Given the description of an element on the screen output the (x, y) to click on. 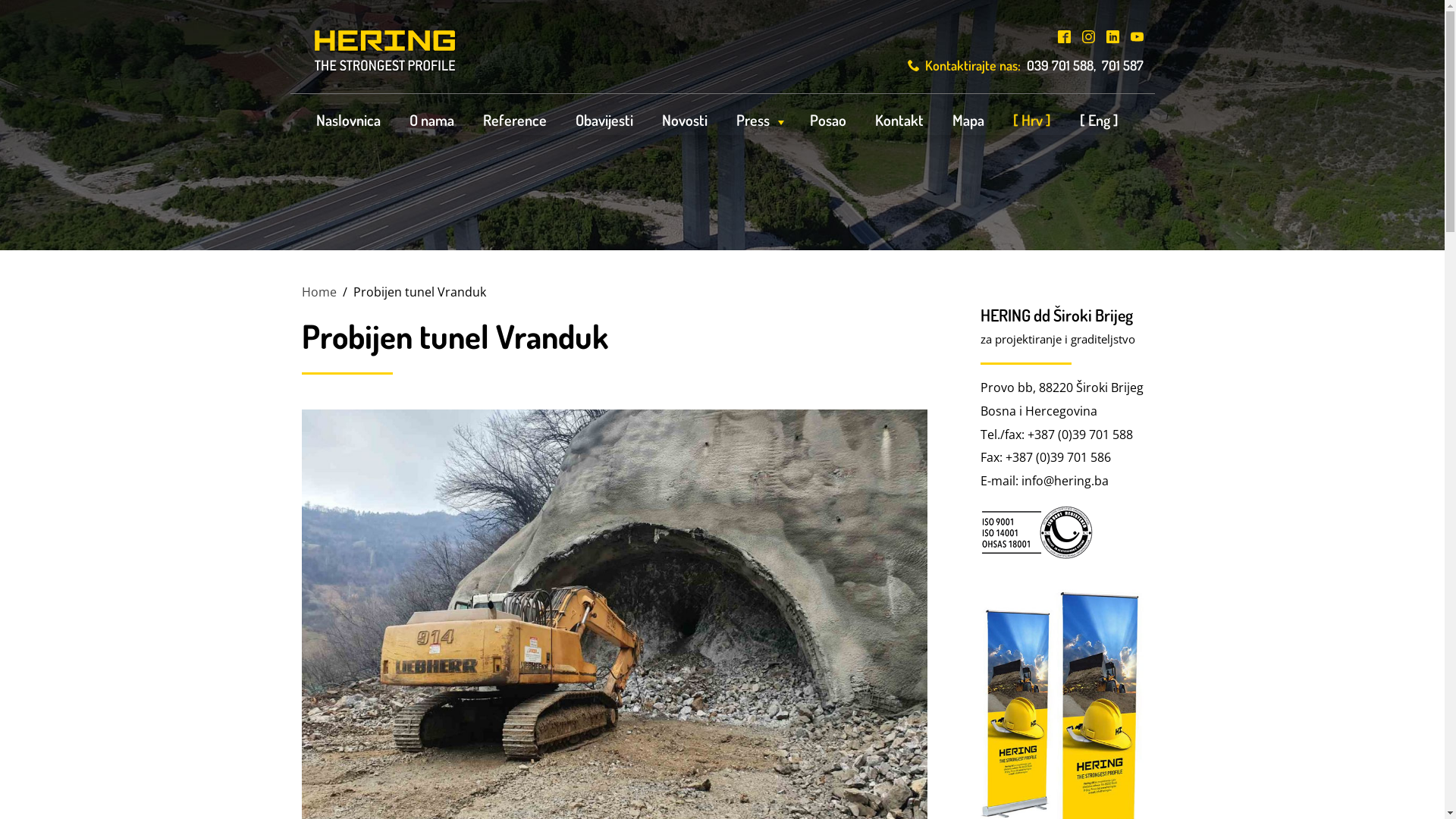
Novosti Element type: text (684, 119)
Obavijesti Element type: text (604, 119)
Posao Element type: text (826, 119)
Reference Element type: text (514, 119)
[ Eng ] Element type: text (1098, 119)
Probijen tunel Vranduk Element type: hover (614, 642)
O nama Element type: text (430, 119)
Kontakt Element type: text (898, 119)
[ Hrv ] Element type: text (1030, 119)
Mapa Element type: text (967, 119)
Home Element type: text (318, 291)
Naslovnica Element type: text (348, 119)
Press Element type: text (758, 119)
